Given the description of an element on the screen output the (x, y) to click on. 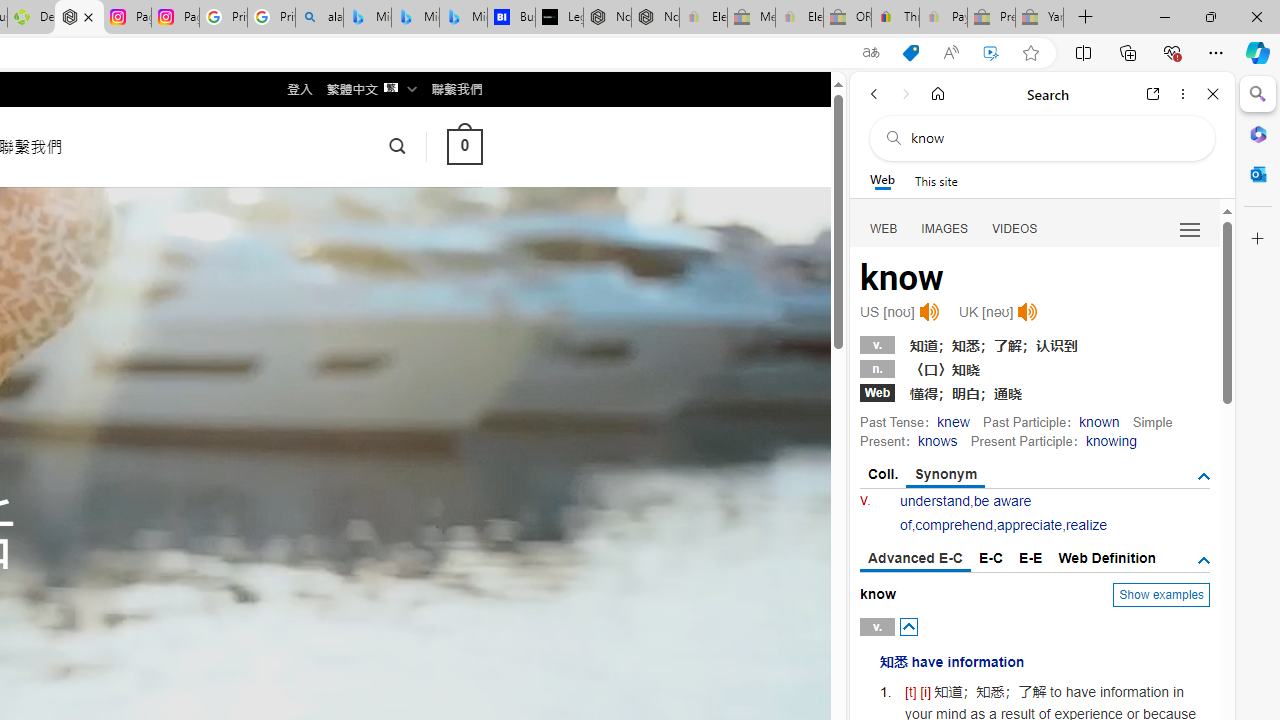
knew (953, 421)
knowing (1110, 440)
Microsoft Bing Travel - Shangri-La Hotel Bangkok (463, 17)
E-E (1030, 557)
Synonym (945, 475)
